Given the description of an element on the screen output the (x, y) to click on. 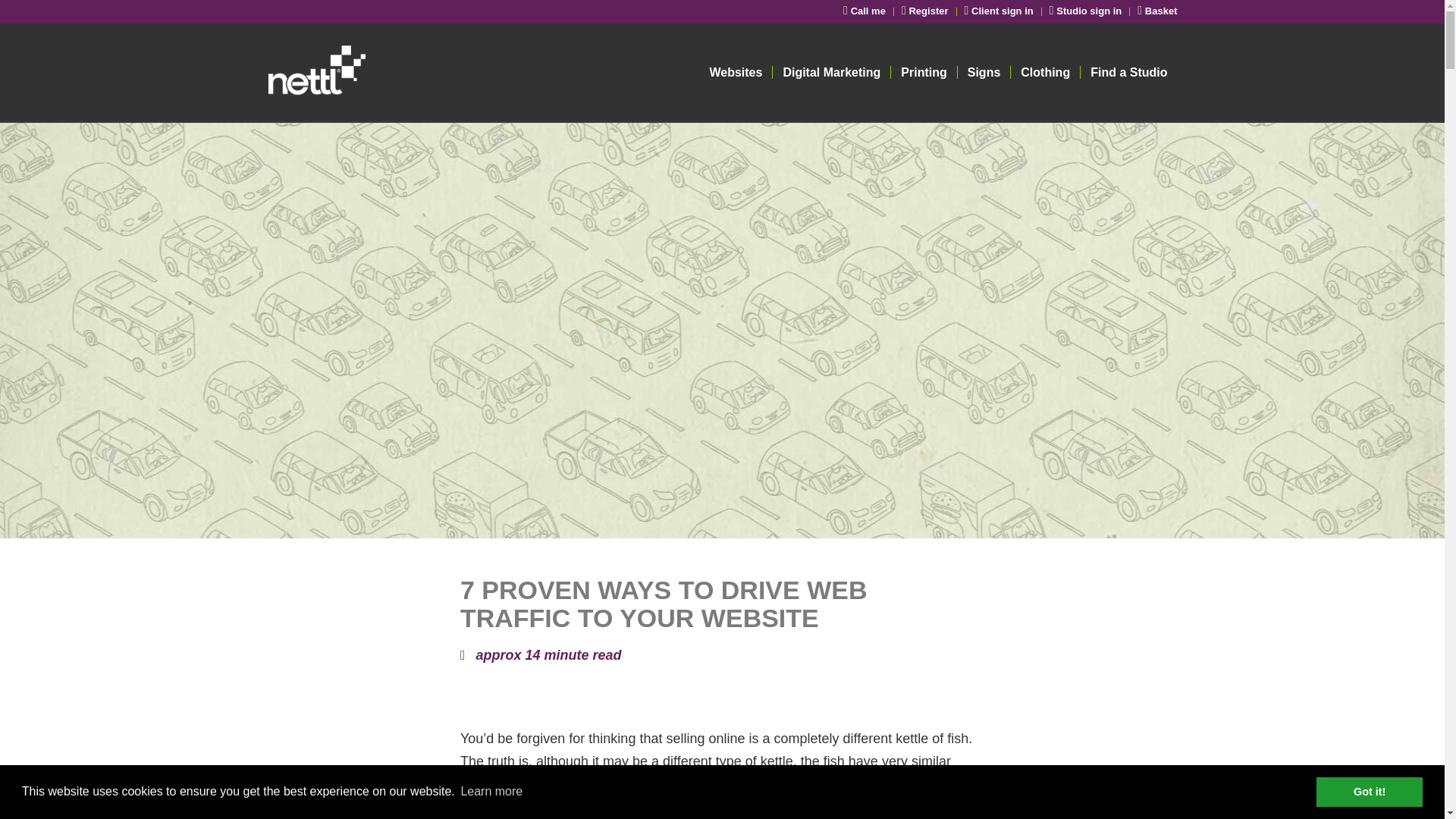
Call me (864, 11)
Learn more (491, 791)
Studio sign in (1085, 11)
Got it! (1369, 791)
Digital Marketing (830, 72)
Client sign in (998, 11)
Printing (922, 72)
Register (925, 11)
Basket (1156, 11)
nettl-header-logo-smallest (373, 72)
Websites (734, 72)
